Given the description of an element on the screen output the (x, y) to click on. 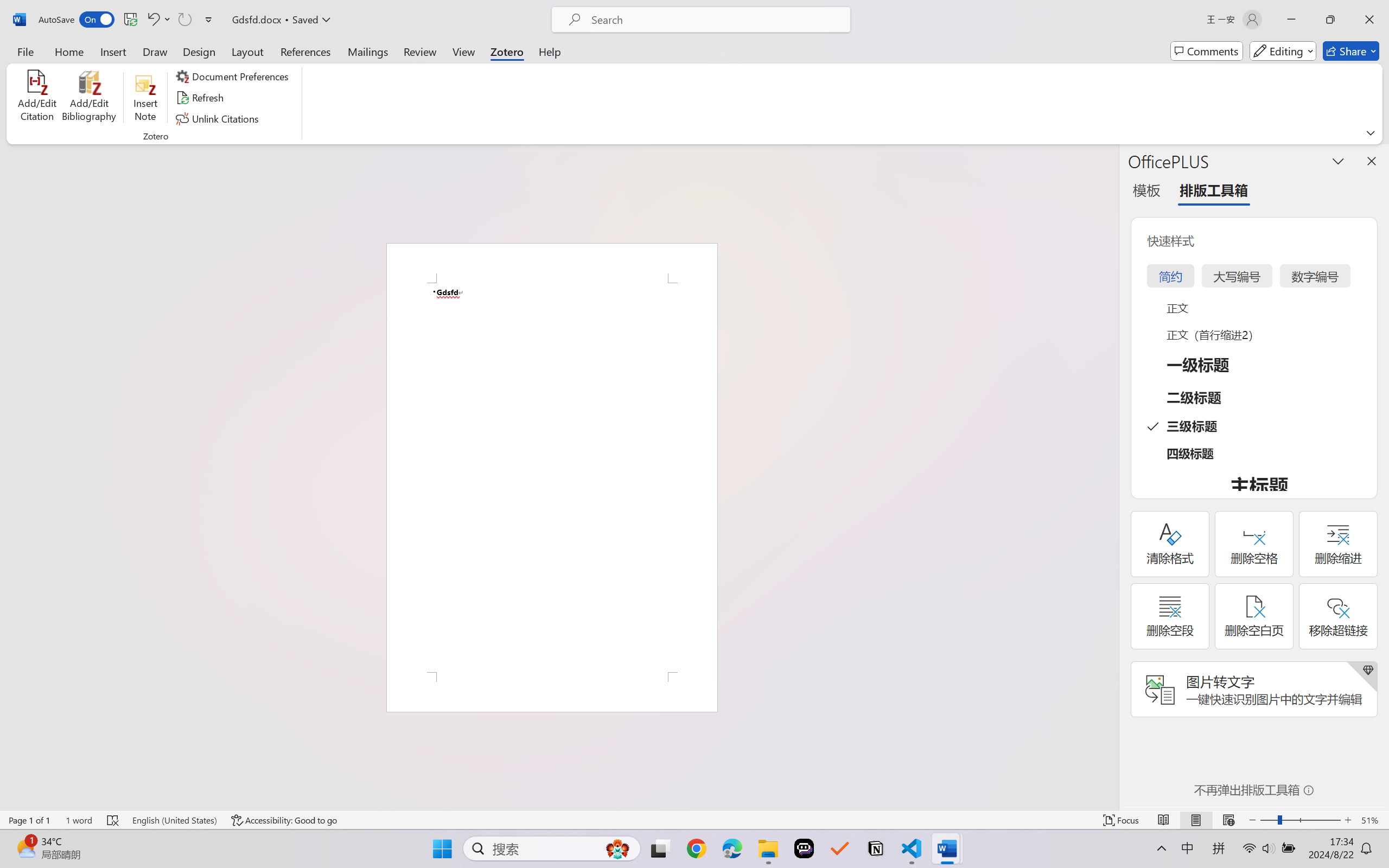
Undo <ApplyStyleToDoc>b__0 (158, 19)
Unlink Citations (218, 118)
Insert Note (145, 97)
Zoom 51% (1372, 819)
Undo <ApplyStyleToDoc>b__0 (152, 19)
